Given the description of an element on the screen output the (x, y) to click on. 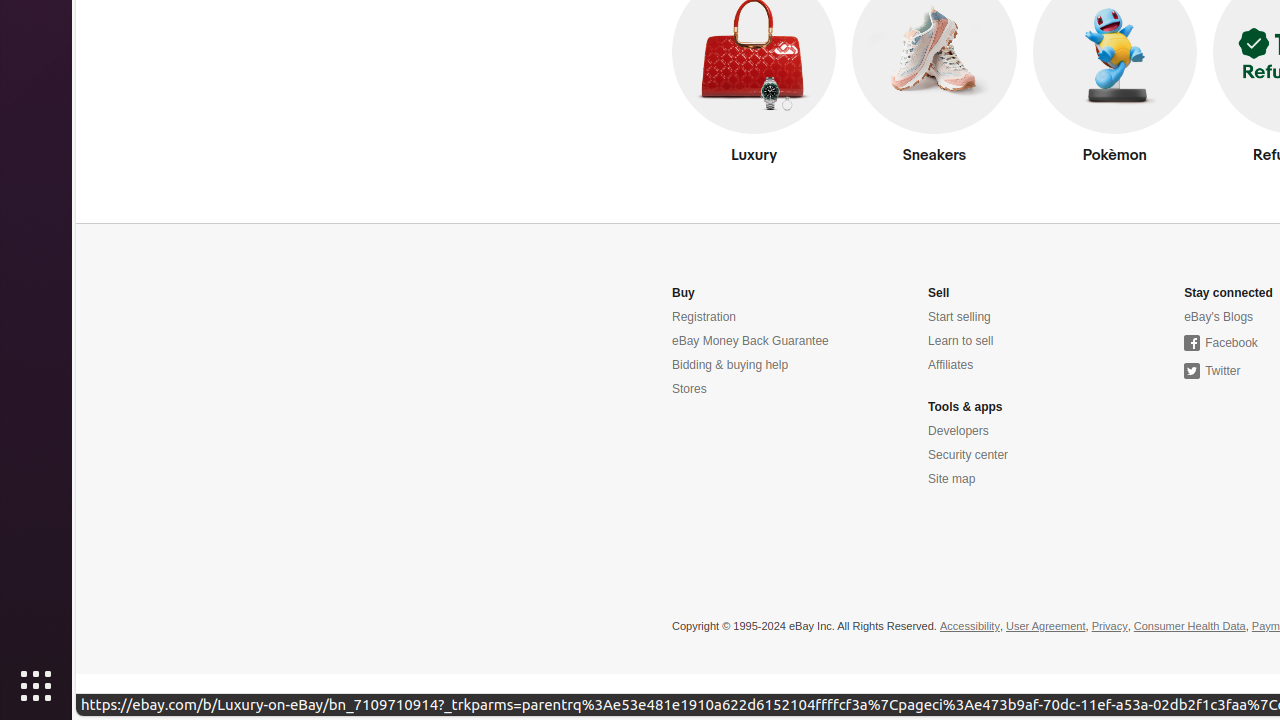
Accessibility Element type: link (969, 627)
Site map Element type: link (952, 479)
Security center Element type: link (968, 455)
Developers Element type: link (958, 431)
eBay's Blogs Element type: link (1219, 317)
